Given the description of an element on the screen output the (x, y) to click on. 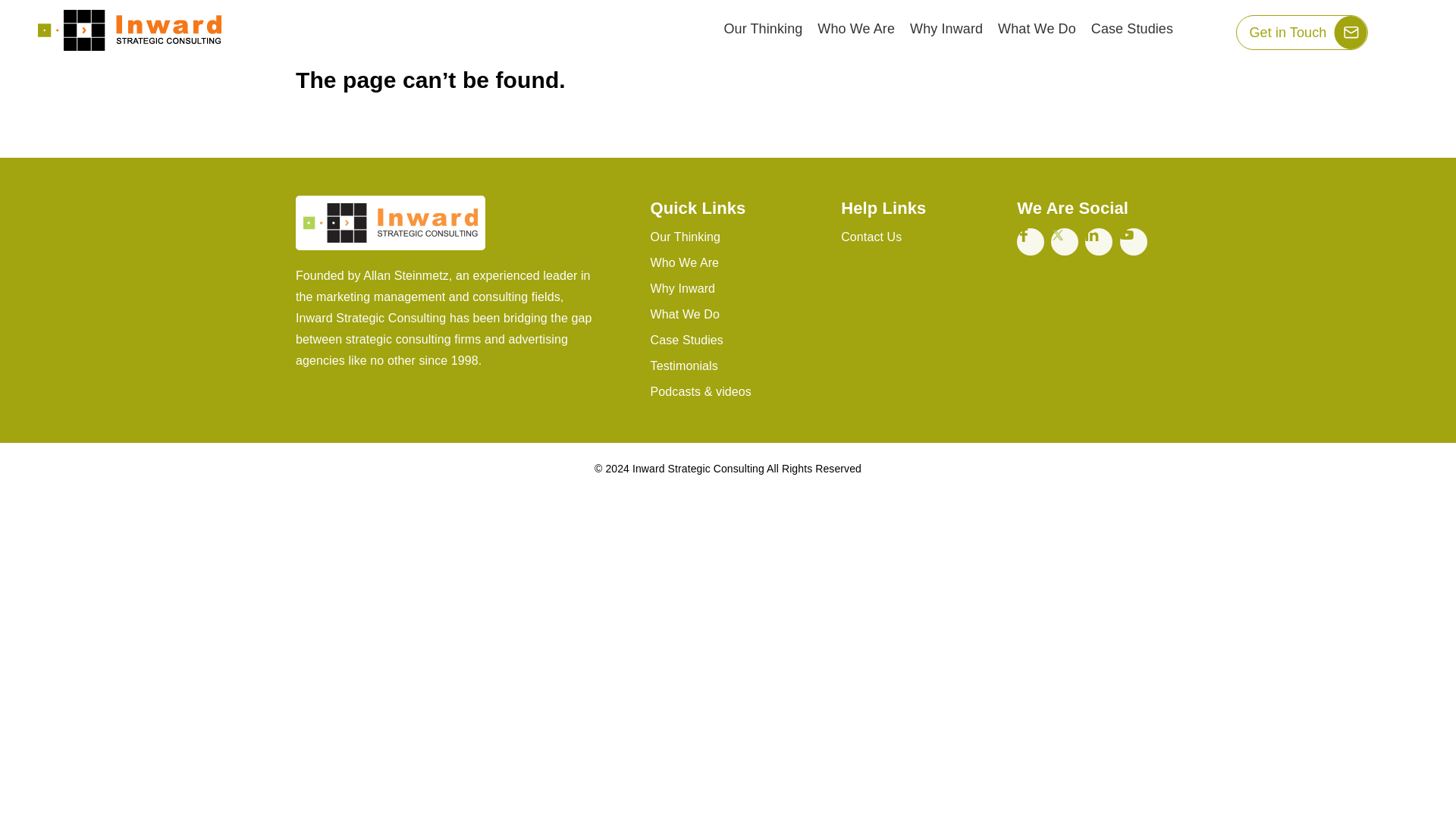
Case Studies (738, 339)
Testimonials (738, 365)
What We Do (738, 314)
Why Inward (738, 289)
Who We Are (855, 28)
Why Inward (946, 28)
What We Do (1036, 28)
Get in Touch (1302, 32)
Our Thinking (738, 237)
Our Thinking (762, 28)
